Given the description of an element on the screen output the (x, y) to click on. 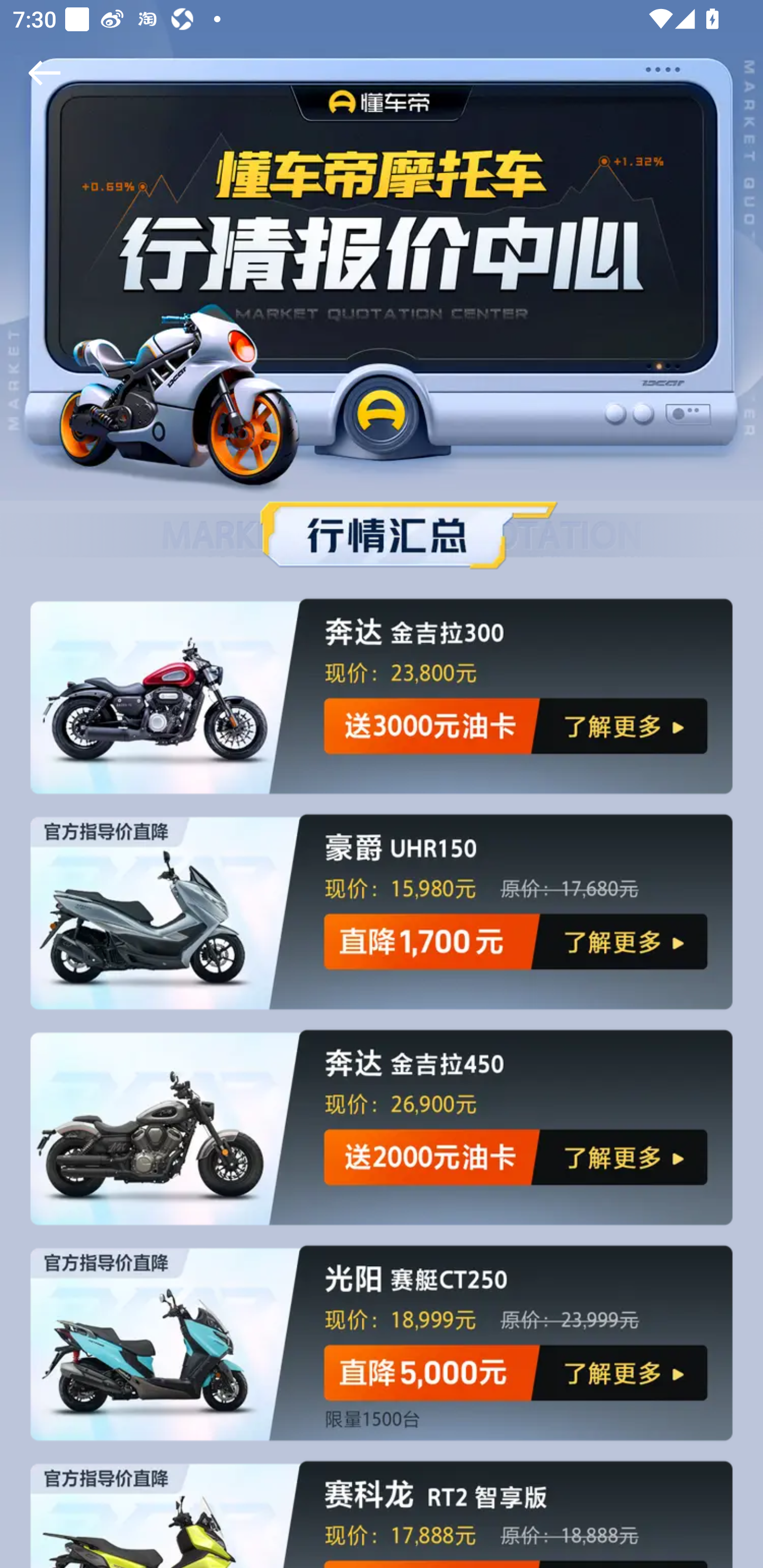
 (41, 72)
6656bab3b4da407dbcd9fac865d5a423~750x0 (381, 533)
671d916d7ae84b9caa5ecca9353bcd85~750x0 (381, 695)
22b21e3a1b844047bc75450cfcdc146b~750x0 (381, 911)
7be831903a37437ea34111ac3930ed97~750x0 (381, 1127)
268933f5dab84837bfe367418edf3ed5~750x0 (381, 1341)
18021e91c9764c469a5eea445d577e11~750x0 (381, 1508)
